Given the description of an element on the screen output the (x, y) to click on. 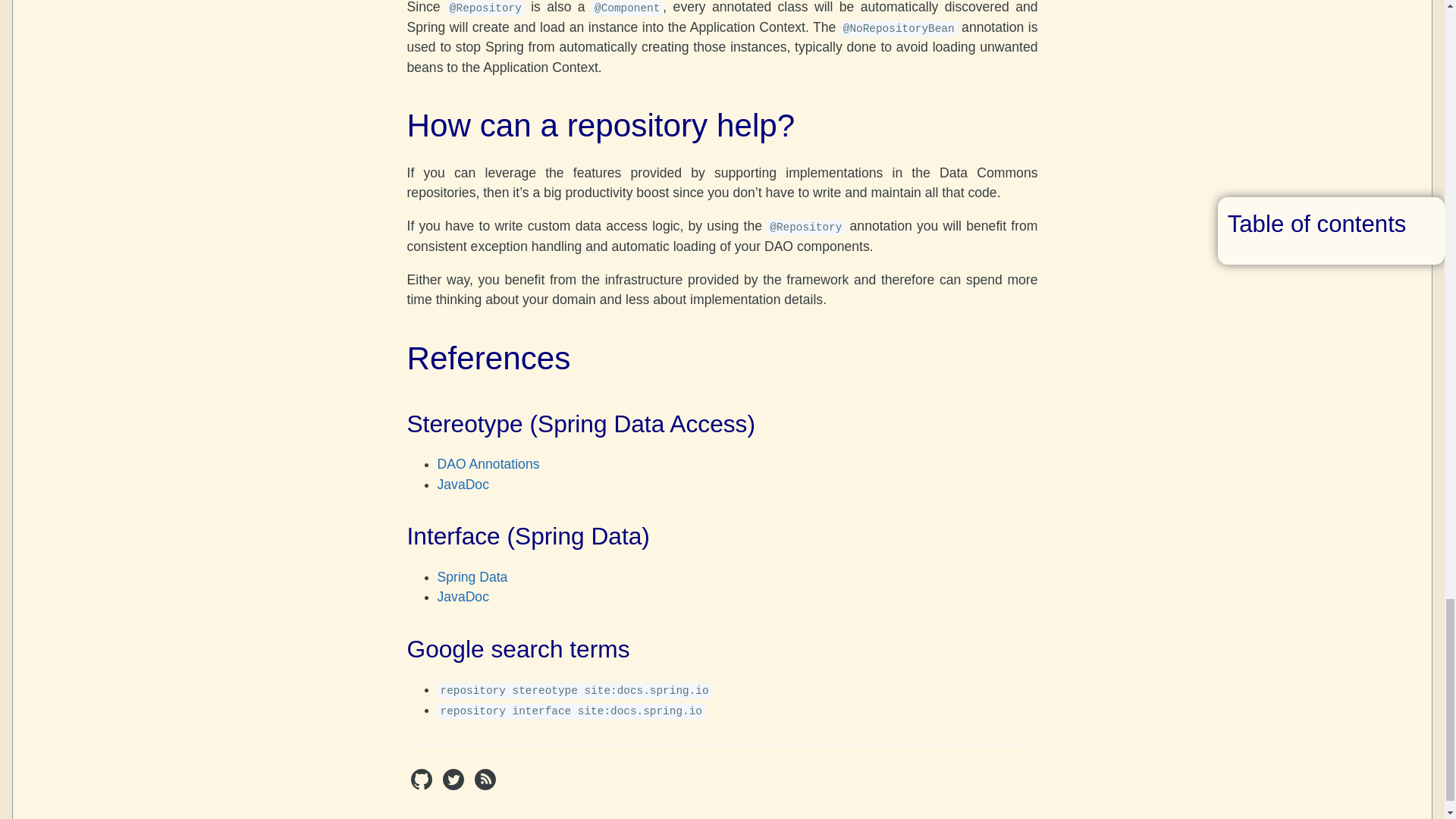
pgpbpadilla.github.io (422, 785)
pgpbpadilla's Twitter (454, 785)
pgpbpadilla's RSS feed (485, 785)
DAO Annotations (487, 463)
JavaDoc (461, 596)
JavaDoc (461, 484)
Spring Data (471, 576)
